Given the description of an element on the screen output the (x, y) to click on. 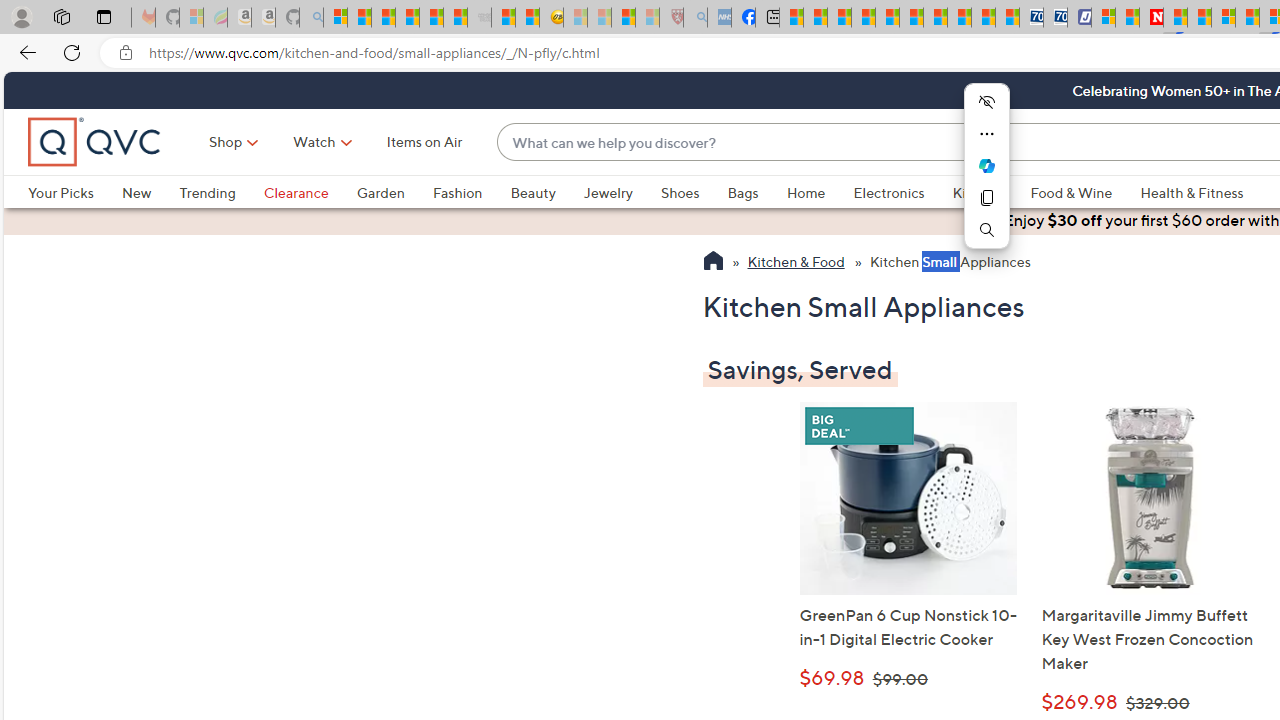
Ask Copilot (986, 165)
QVC home (95, 141)
The Weather Channel - MSN (383, 17)
Cheap Car Rentals - Save70.com (1031, 17)
Fashion (471, 192)
Shoes (694, 192)
Food & Wine (1085, 192)
Trusted Community Engagement and Contributions | Guidelines (1174, 17)
